Given the description of an element on the screen output the (x, y) to click on. 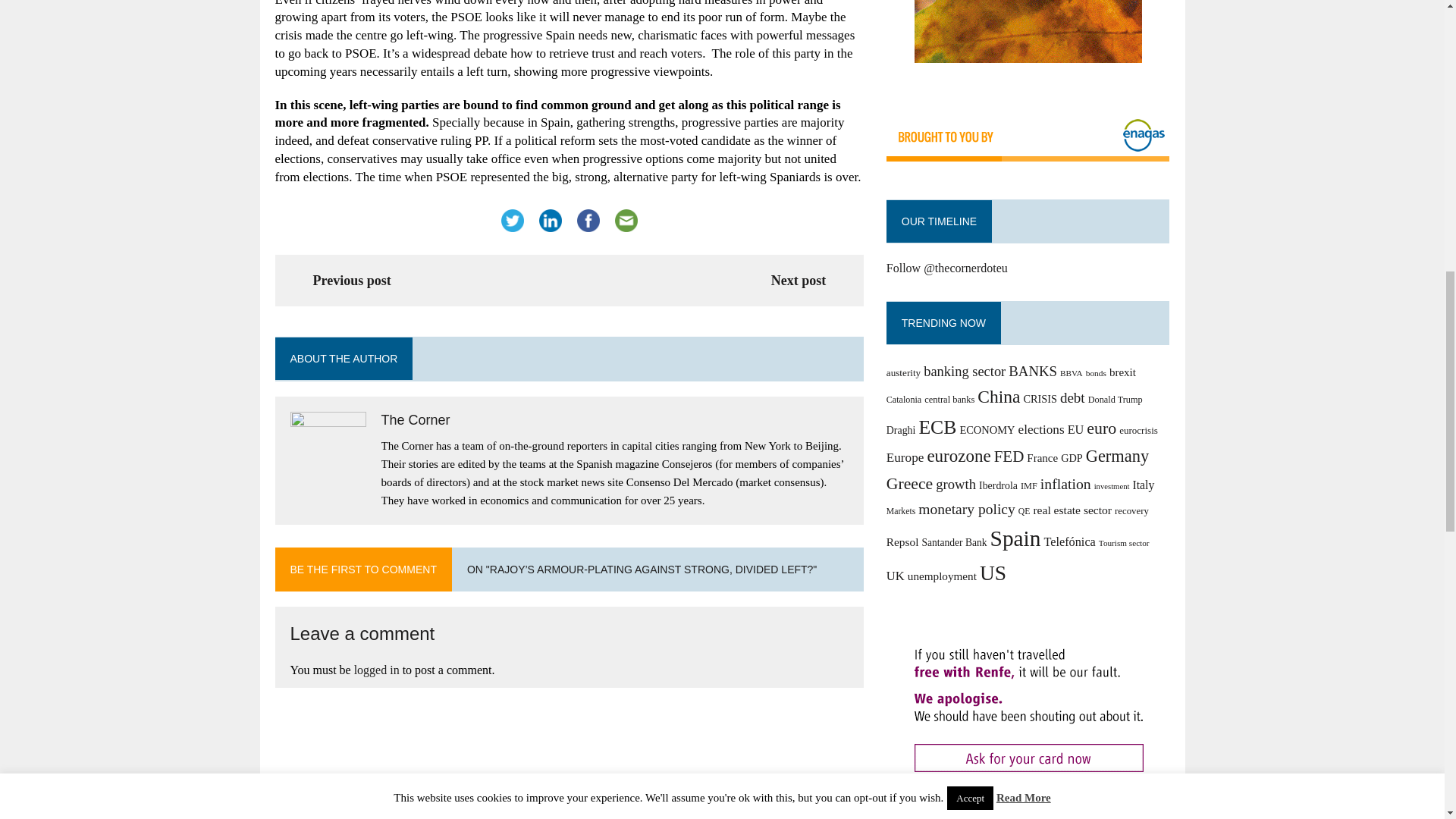
Facebook (588, 220)
Twitter (512, 220)
LinkedIn (550, 220)
Email (626, 220)
